Given the description of an element on the screen output the (x, y) to click on. 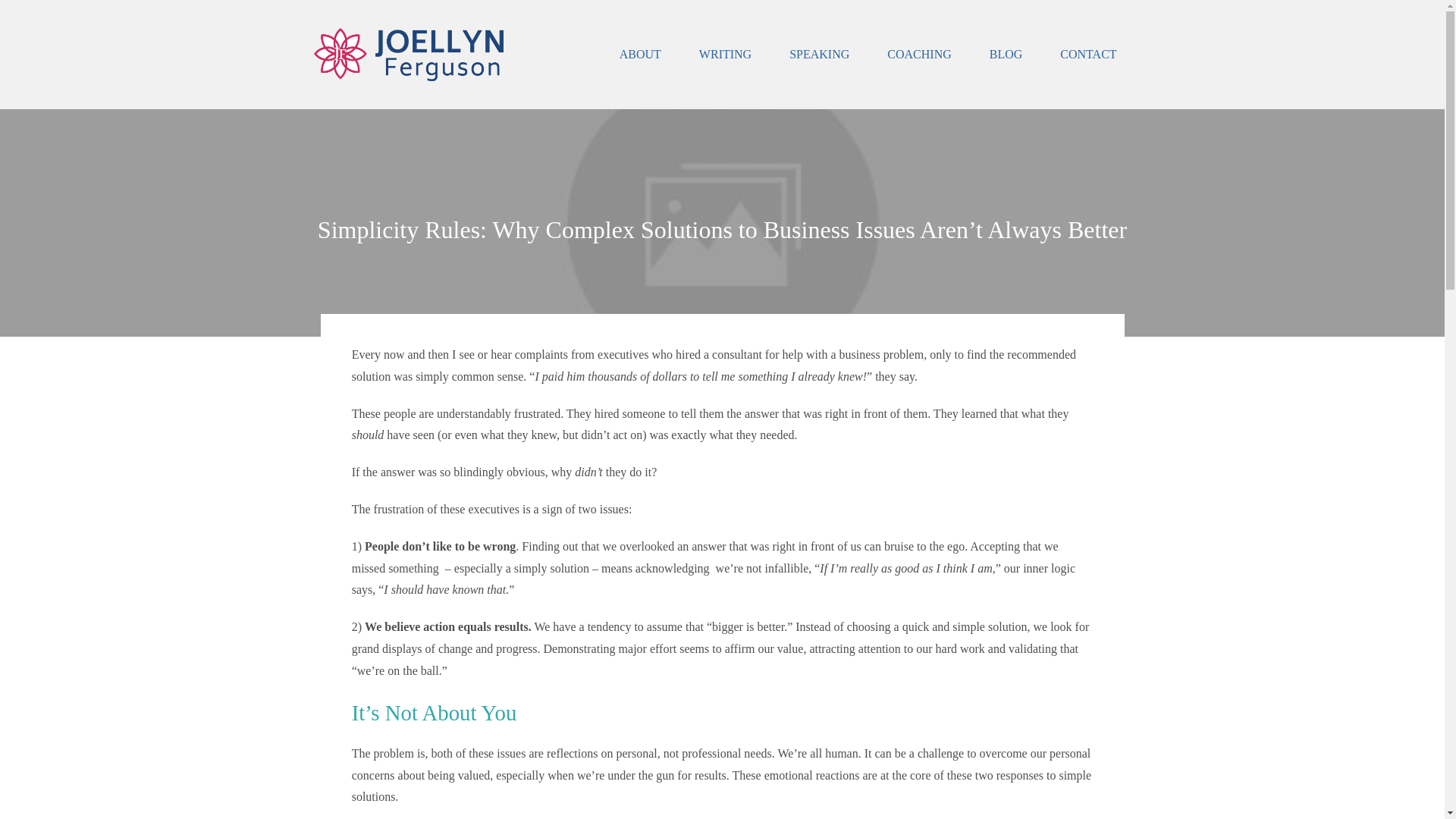
CONTACT (1087, 54)
ABOUT (640, 54)
SPEAKING (818, 54)
BLOG (1006, 54)
Joellyn Ferguson logo (408, 54)
WRITING (724, 54)
COACHING (918, 54)
